Given the description of an element on the screen output the (x, y) to click on. 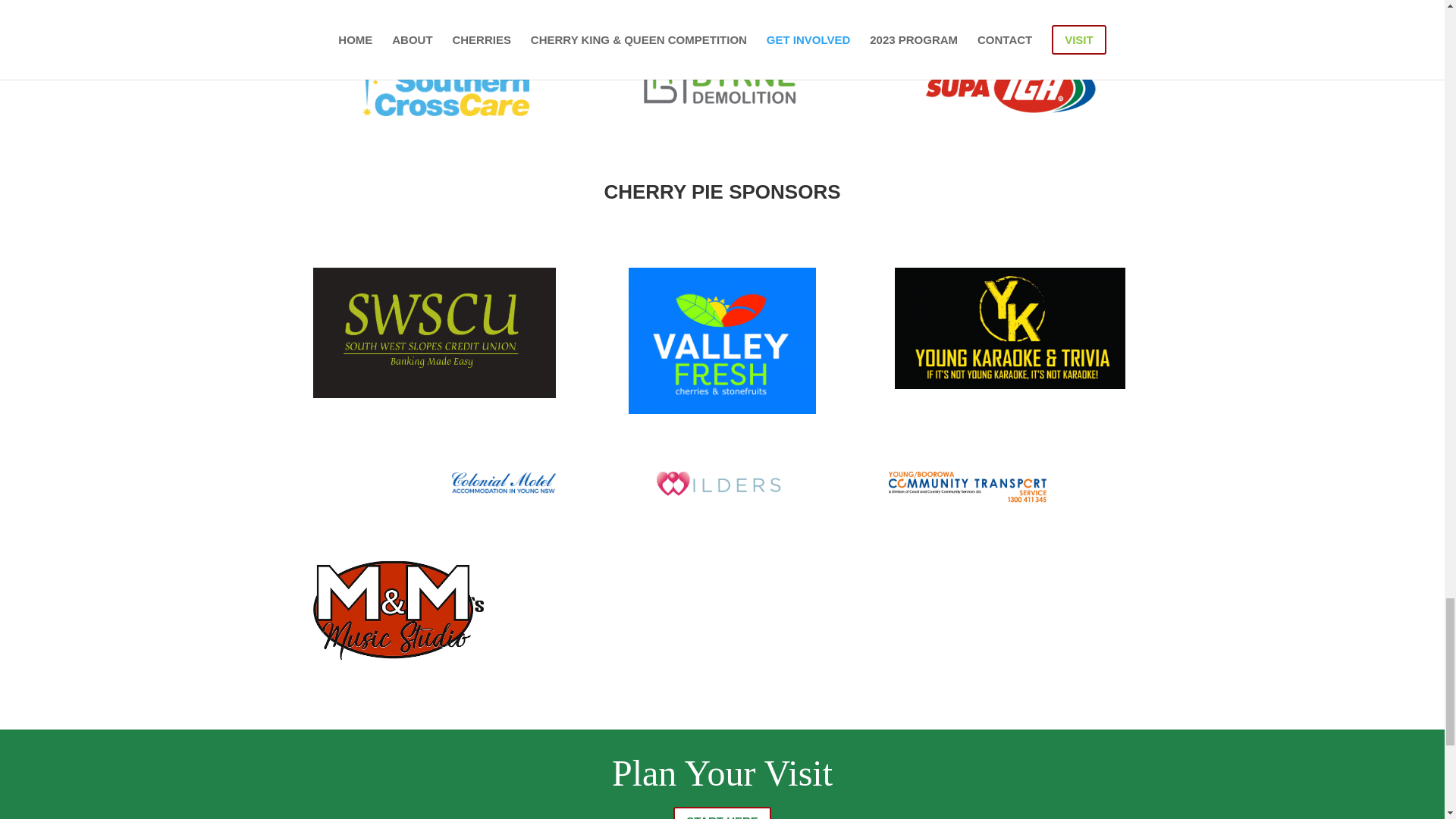
Valley Fresh- Full Colour Logo (721, 340)
BlackGreen higher res (433, 332)
donges iga (1010, 81)
Young Boorowa CTS ph (967, 486)
SCC-POS-PMS (434, 81)
START HERE (721, 812)
Byrne Demolition (721, 81)
Colonial Motel (502, 482)
Wilders Bakery Logo (721, 485)
